Given the description of an element on the screen output the (x, y) to click on. 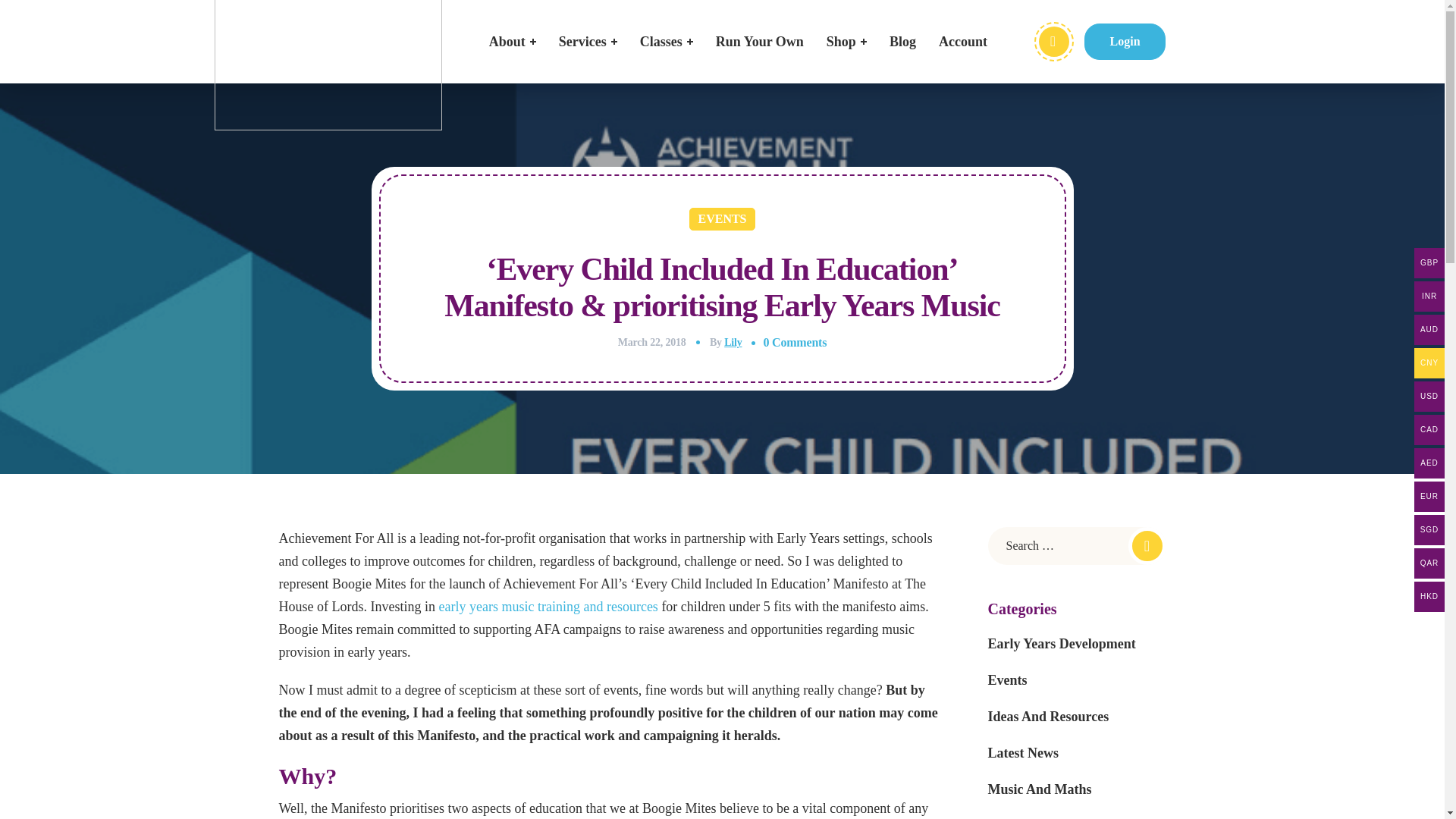
Classes (666, 41)
Click to open Shopping Cart (1053, 41)
Services (587, 41)
